Given the description of an element on the screen output the (x, y) to click on. 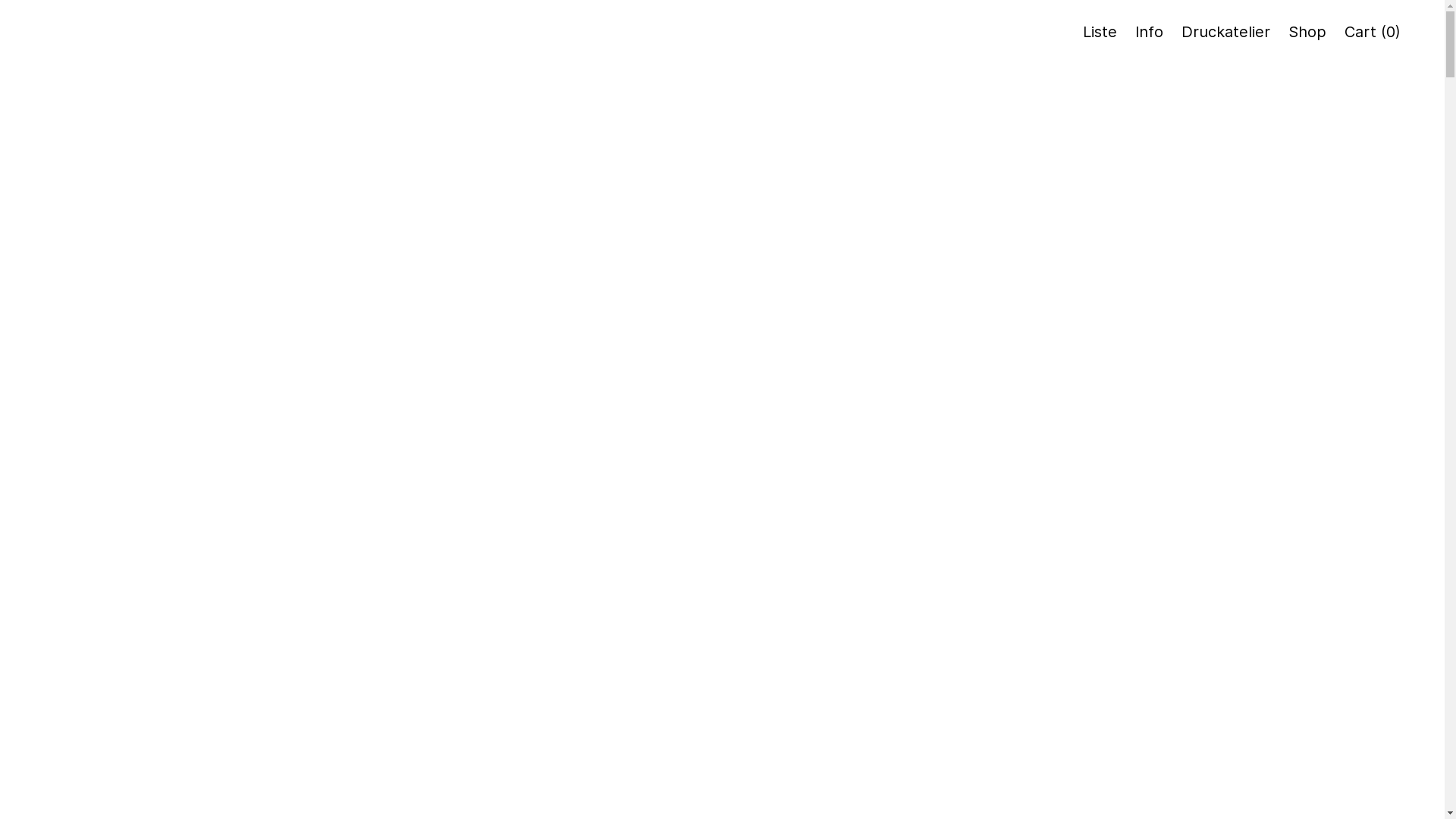
Liste Element type: text (1099, 31)
Shop Element type: text (1307, 31)
Info Element type: text (1149, 31)
Druckatelier Element type: text (1225, 31)
Cart (0) Element type: text (1372, 31)
